Given the description of an element on the screen output the (x, y) to click on. 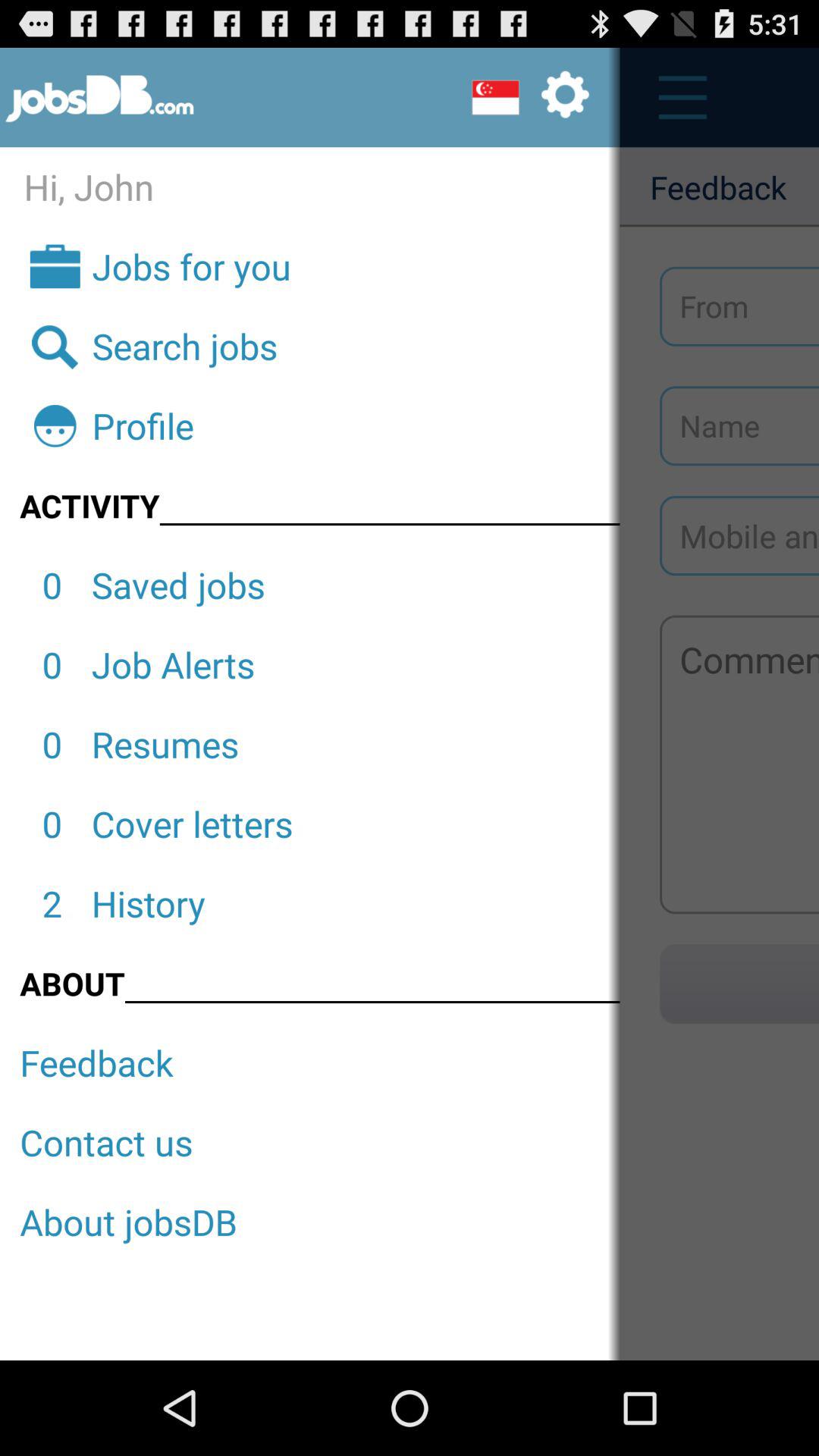
open tool bar (674, 97)
